Given the description of an element on the screen output the (x, y) to click on. 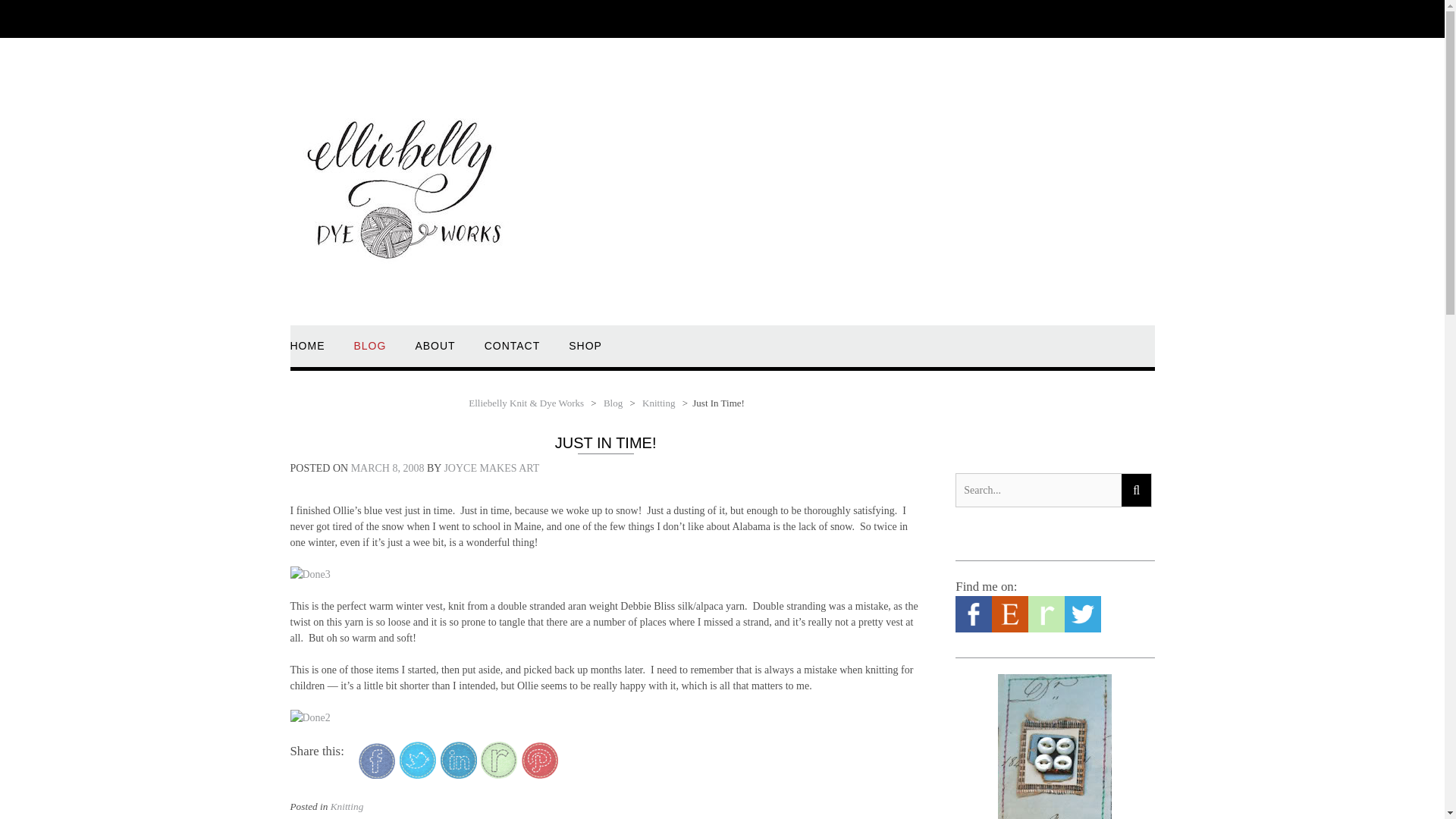
Knitting (347, 806)
BLOG (369, 352)
Facebook (973, 628)
Go to Blog. (612, 402)
Done2 (309, 717)
Share via Pinterest (539, 775)
MARCH 8, 2008 (387, 468)
Share via Twitter (416, 775)
CONTACT (512, 352)
HOME (306, 352)
Etsy (1009, 628)
Twitter (1082, 628)
Ravelry (1045, 628)
SHOP (585, 352)
Knitting (658, 402)
